Given the description of an element on the screen output the (x, y) to click on. 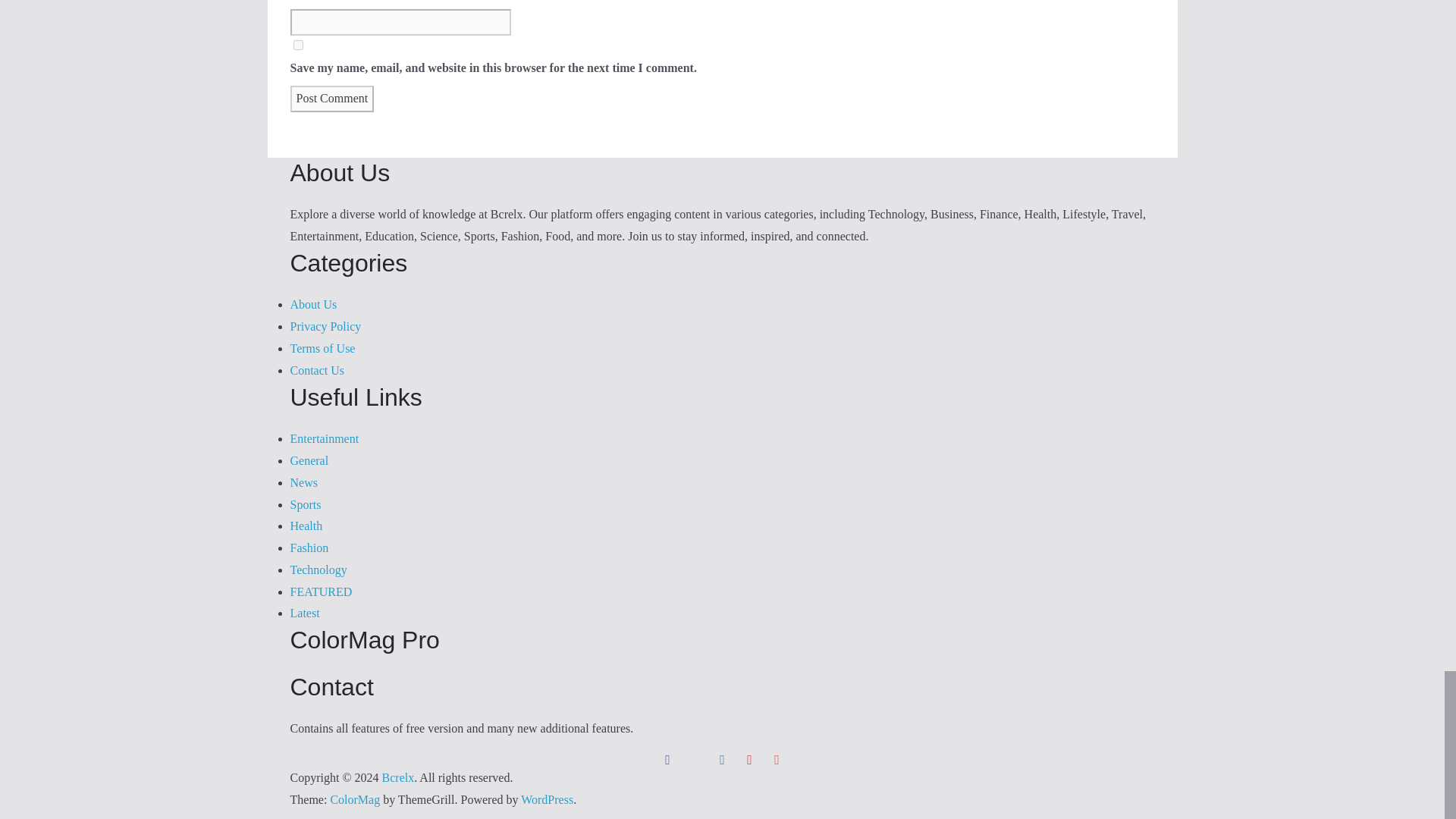
Post Comment (331, 98)
yes (297, 44)
